Given the description of an element on the screen output the (x, y) to click on. 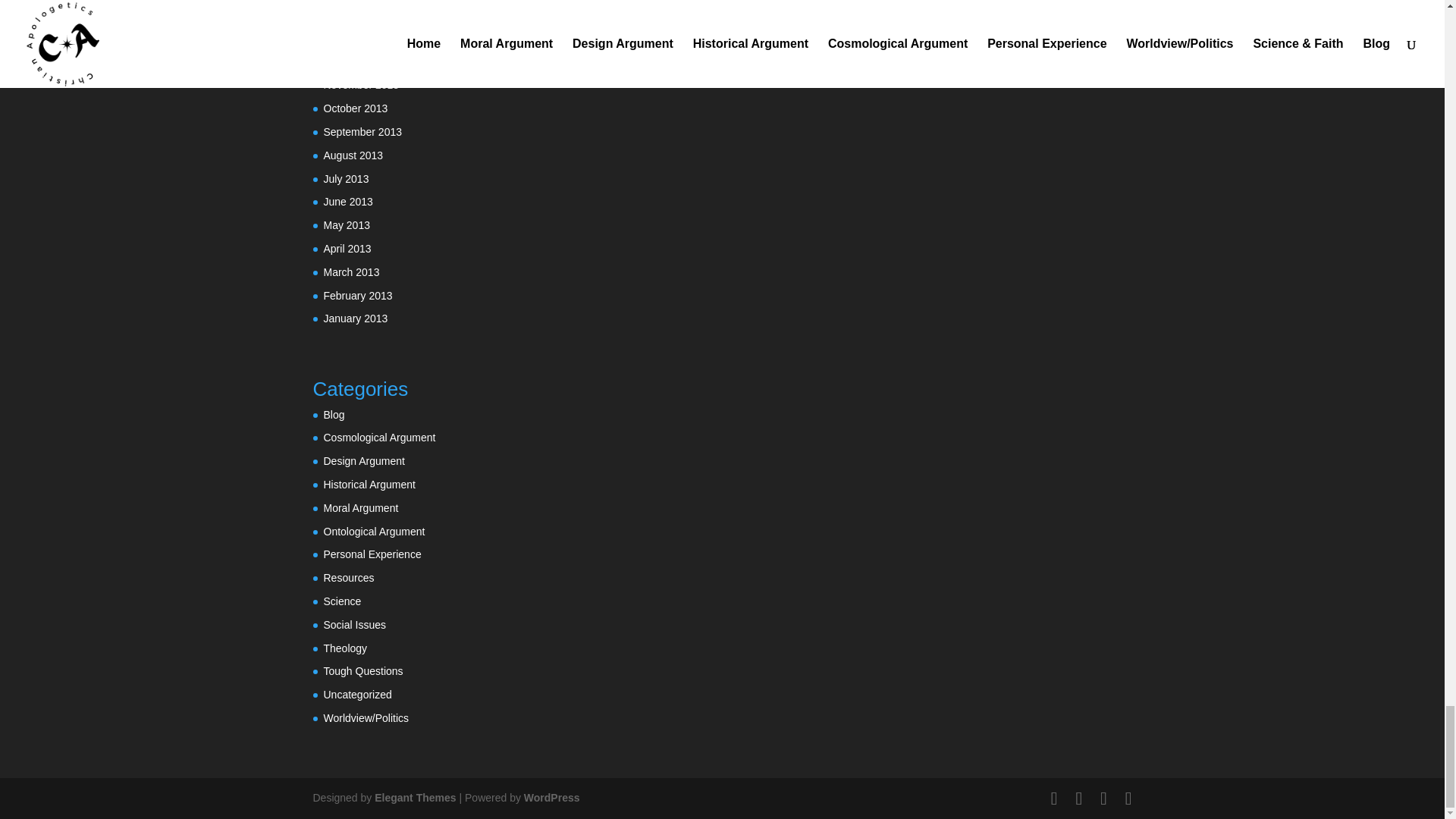
Premium WordPress Themes (414, 797)
